Given the description of an element on the screen output the (x, y) to click on. 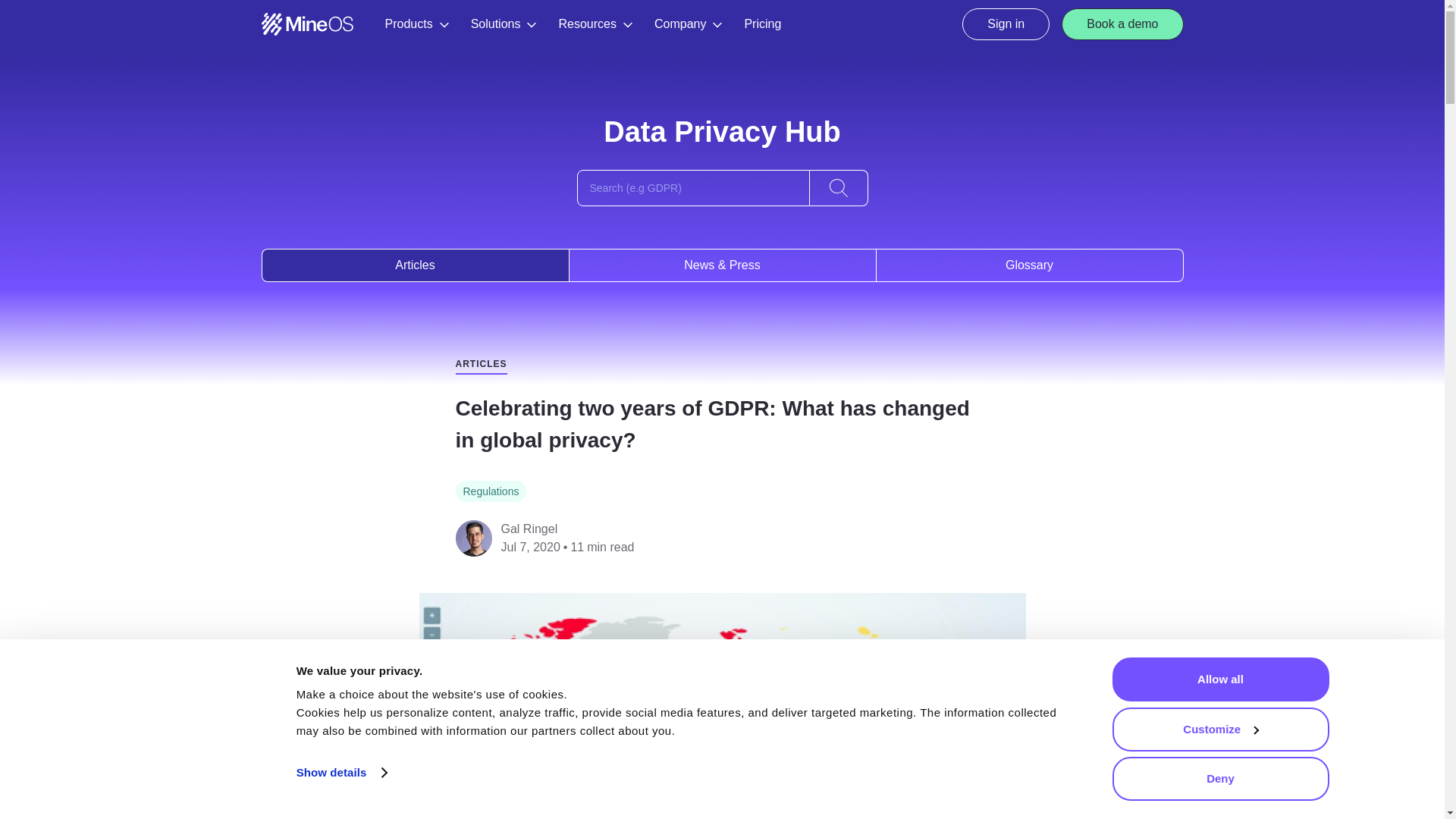
Show details (341, 772)
